Given the description of an element on the screen output the (x, y) to click on. 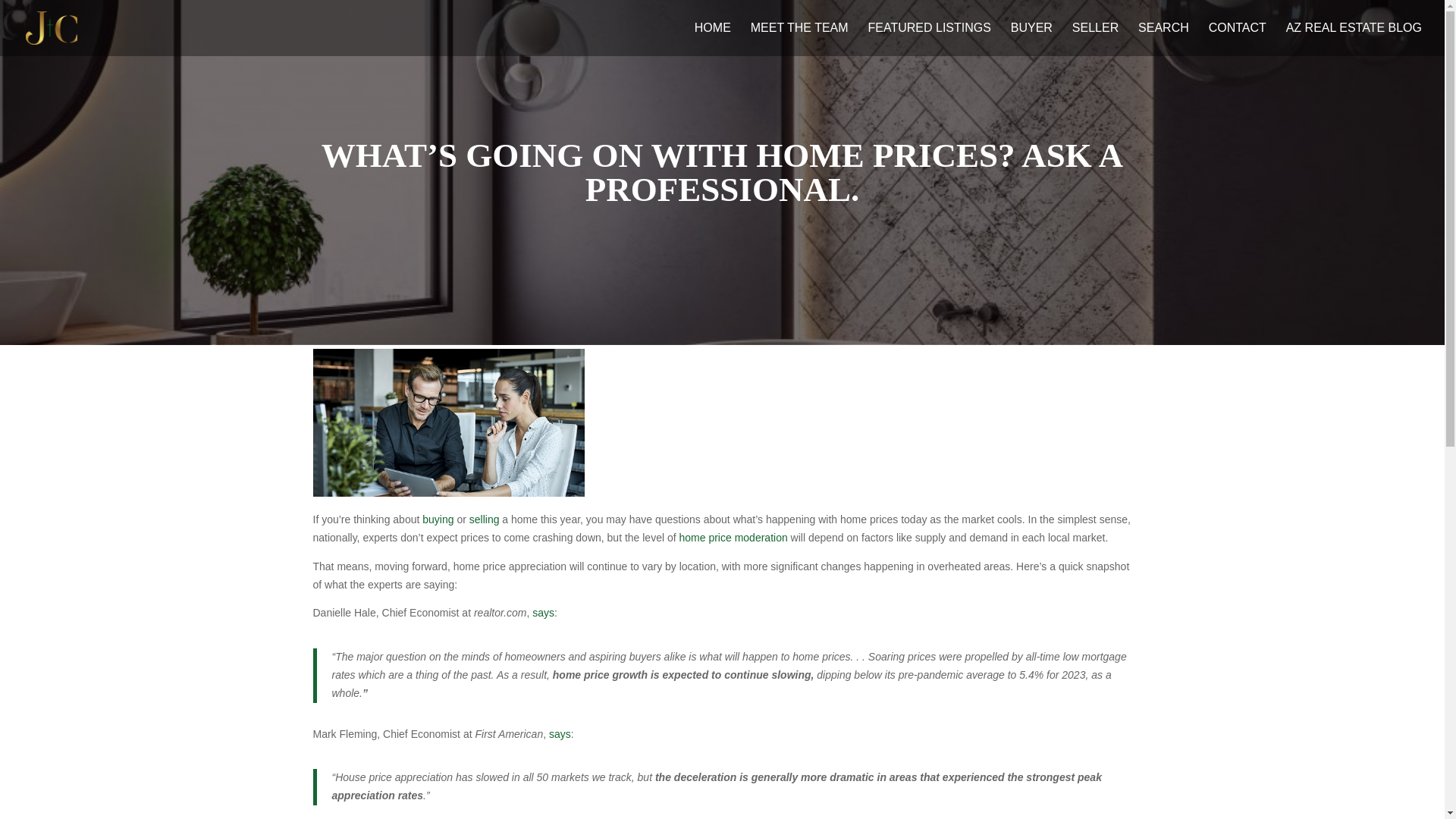
buying (437, 519)
MEET THE TEAM (799, 39)
CONTACT (1237, 39)
selling (483, 519)
HOME (712, 39)
says (543, 612)
SELLER (1094, 39)
BUYER (1031, 39)
home price moderation (733, 537)
FEATURED LISTINGS (929, 39)
AZ REAL ESTATE BLOG (1353, 39)
SEARCH (1163, 39)
says (559, 734)
